Given the description of an element on the screen output the (x, y) to click on. 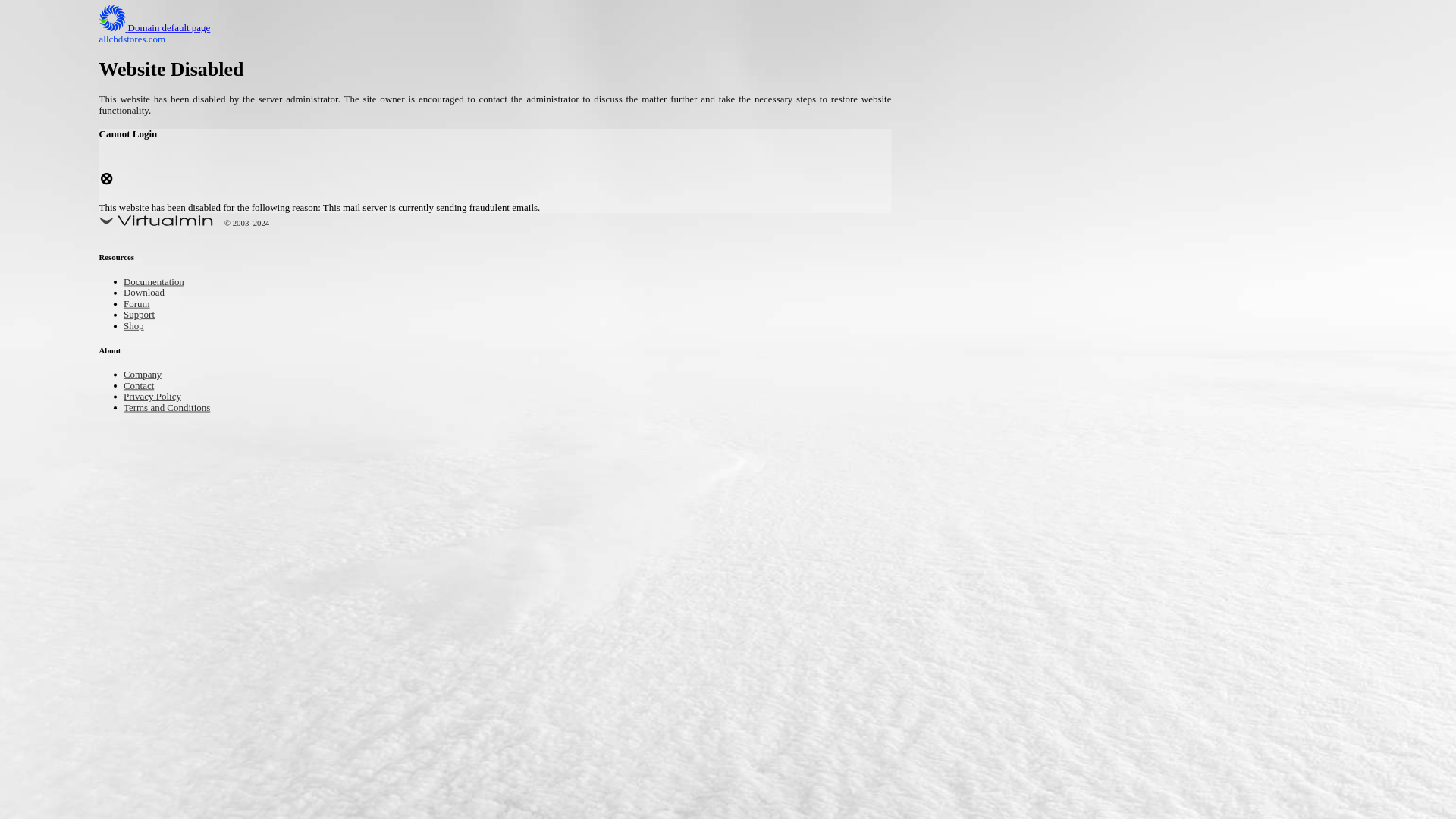
Search (1050, 85)
ADMINISTRATOR (417, 118)
Terms of Use (996, 330)
Search (1050, 85)
Privacy Policy (999, 306)
August 2020 (996, 432)
Blog (976, 510)
the original source (856, 709)
Disclaimer (990, 354)
Contact Us (991, 258)
BDCLIFEINSTYLE.COM (411, 28)
Search for: (1049, 47)
Skip to content (34, 9)
look at here now (467, 411)
Latest Article (996, 172)
